Given the description of an element on the screen output the (x, y) to click on. 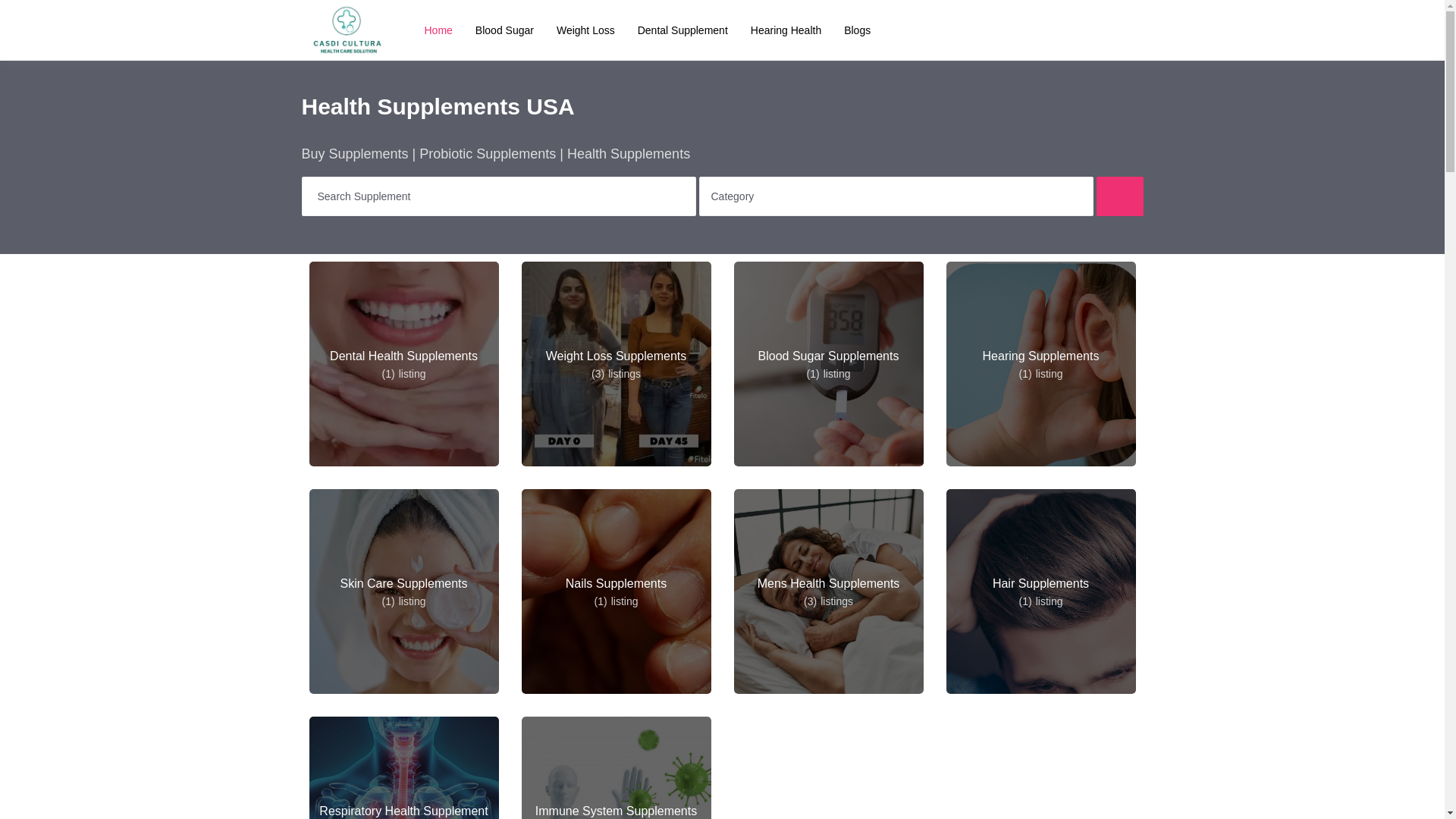
Dental Supplement (682, 29)
Nails Supplements (616, 590)
Mens Health Supplements (828, 590)
Skin Care Supplements (403, 590)
Weight Loss (585, 29)
Dental Health Supplements (403, 363)
Hair Supplements (1040, 590)
Blood Sugar Supplements (828, 363)
Blogs (857, 29)
Home (438, 29)
Hearing Health (786, 29)
Weight Loss Supplements (616, 363)
Hearing Supplements (1040, 363)
Immune System Supplements (616, 767)
Respiratory Health Supplement (403, 767)
